Given the description of an element on the screen output the (x, y) to click on. 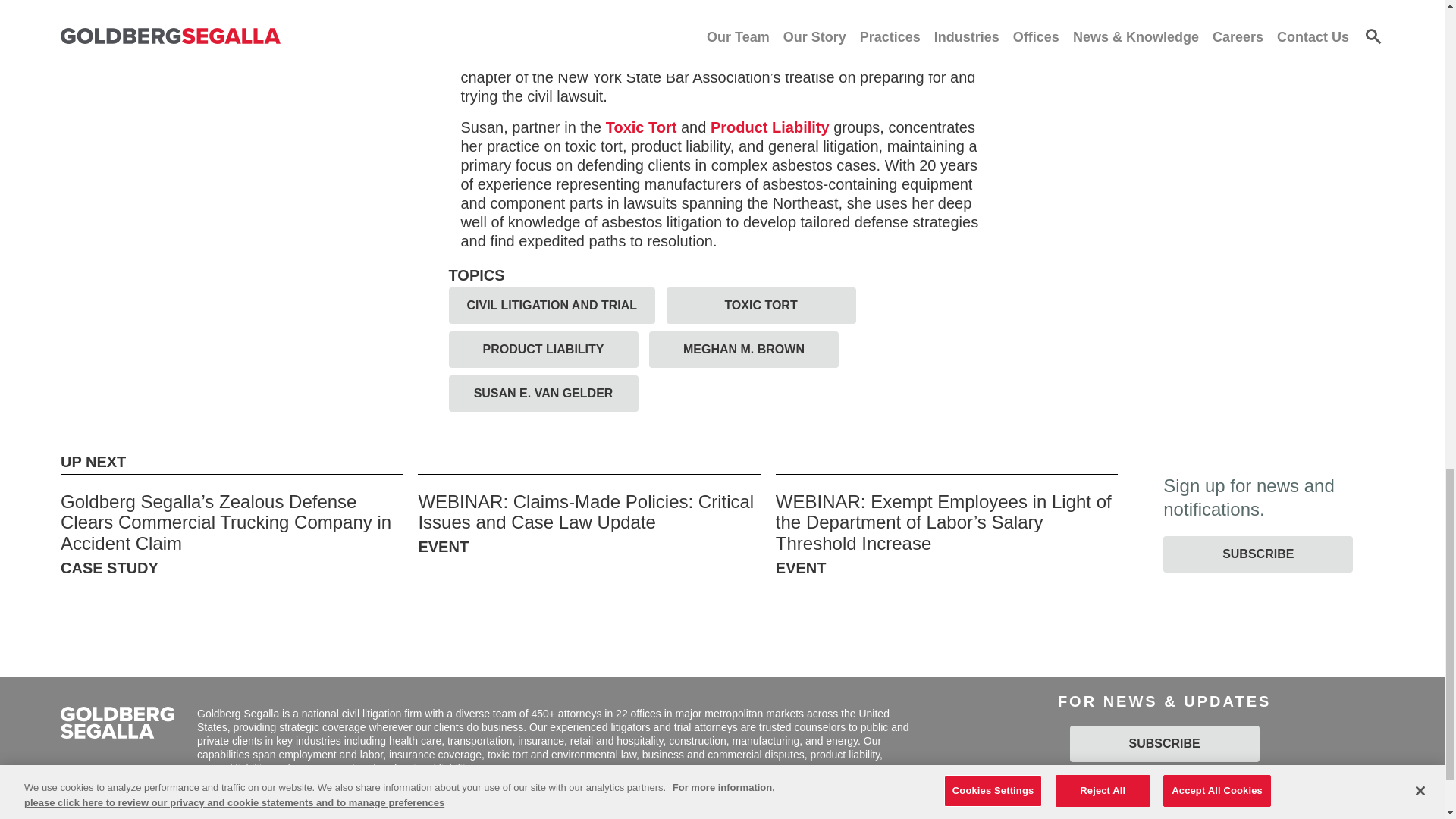
TOXIC TORT (761, 305)
MEGHAN M. BROWN (743, 349)
Product Liability (769, 126)
PRODUCT LIABILITY (543, 349)
CIVIL LITIGATION AND TRIAL (552, 305)
Toxic Tort (641, 126)
SUSAN E. VAN GELDER (543, 393)
